Given the description of an element on the screen output the (x, y) to click on. 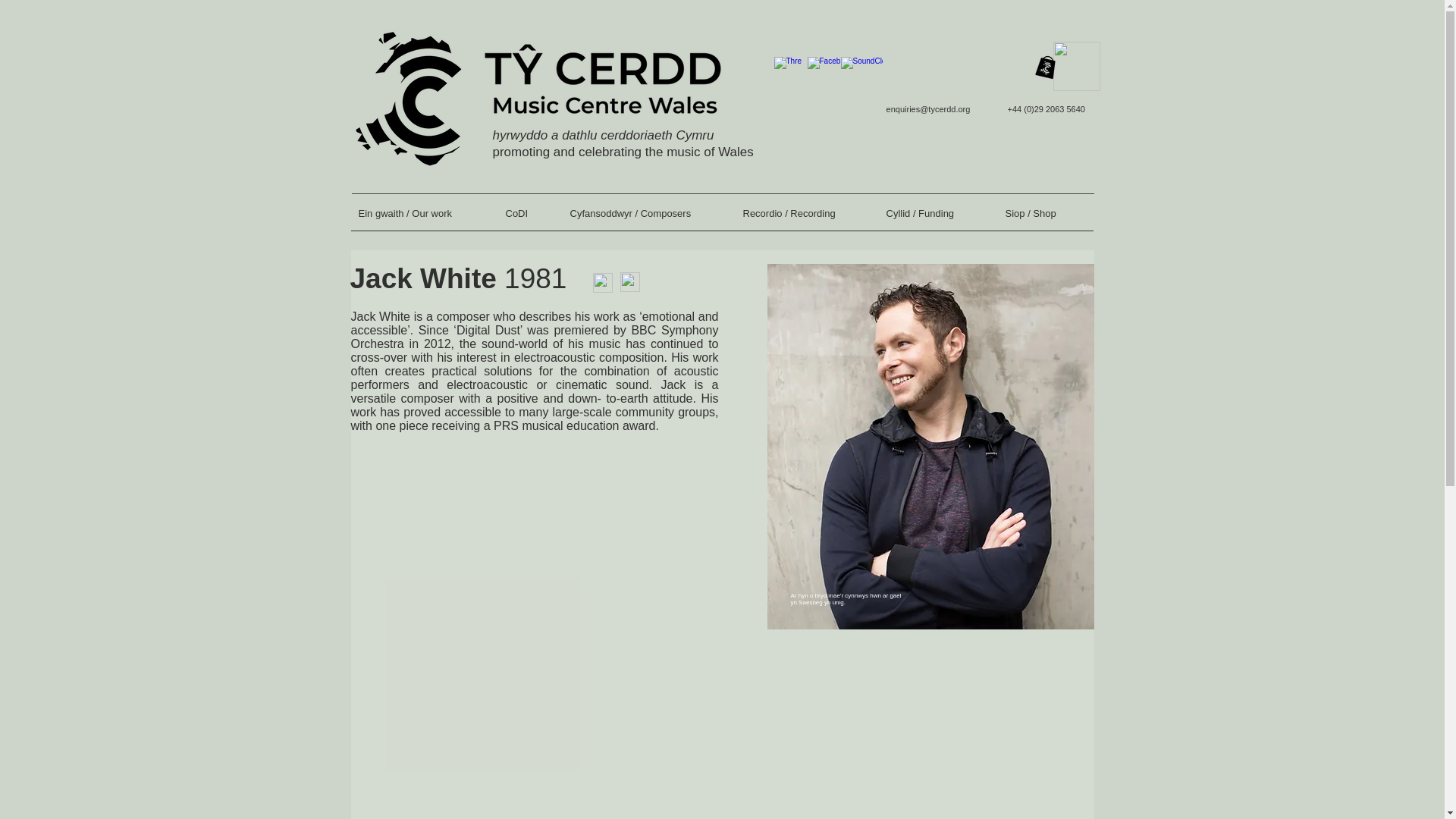
CoDI (529, 218)
Gwefan Jack White Website (630, 281)
Catalog Jack White Catalogue (602, 282)
